Given the description of an element on the screen output the (x, y) to click on. 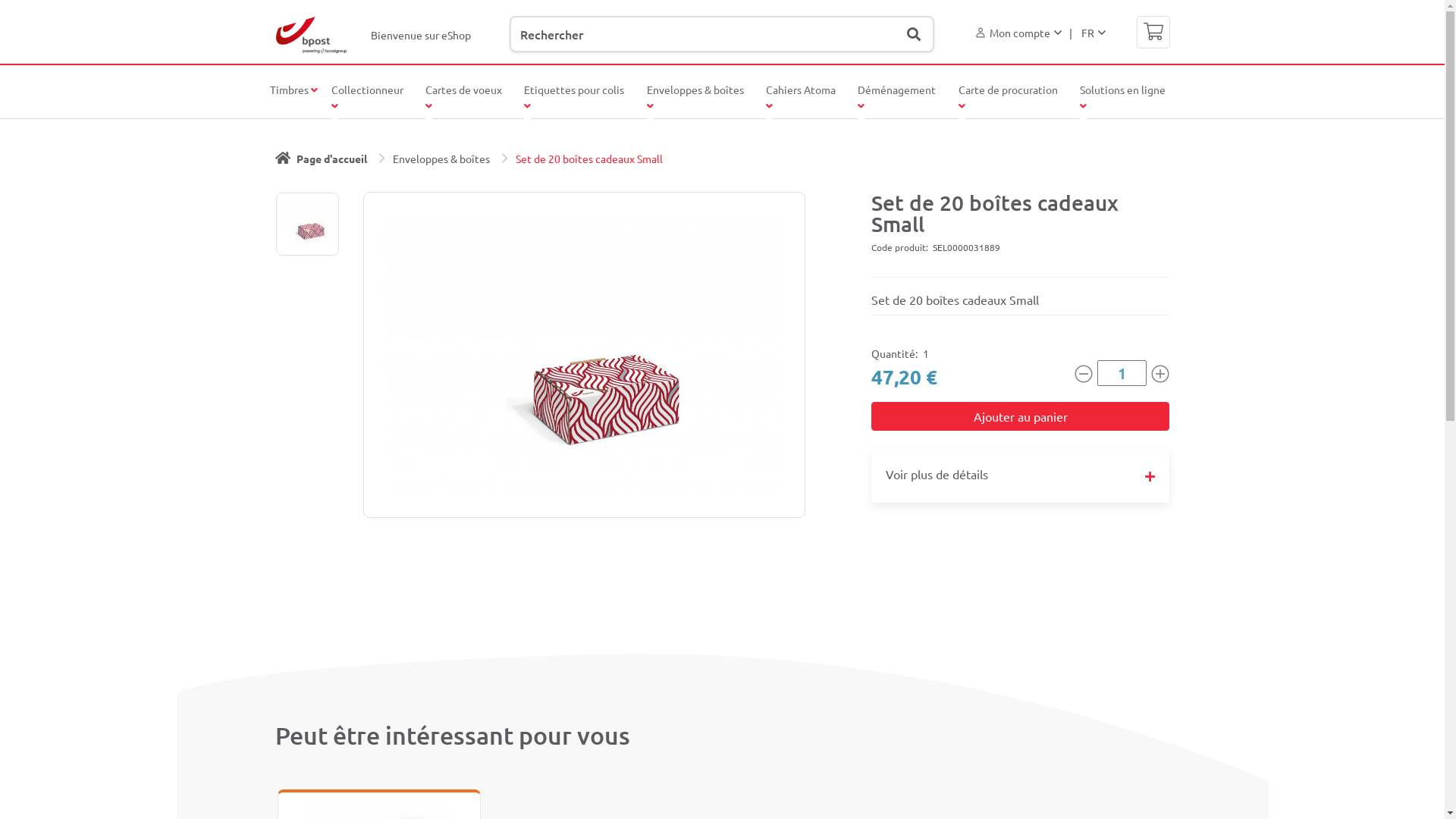
Page d'accueil Element type: text (320, 158)
Mon compte Element type: text (1018, 34)
Geef de woorden op waarnaar u wilt zoeken. Element type: hover (721, 33)
Timbres Element type: text (293, 92)
Carte de procuration Element type: text (1007, 100)
Cahiers Atoma Element type: text (800, 100)
Recherche Element type: hover (913, 34)
Zoeken Element type: hover (920, 27)
Solutions en ligne Element type: text (1122, 100)
Ajouter au panier Element type: text (1020, 415)
Cartes de voeux Element type: text (463, 100)
Collectionneur Element type: text (367, 100)
Page d'accueil Element type: hover (310, 34)
Aller au contenu principal Element type: text (0, 0)
Etiquettes pour colis Element type: text (574, 100)
